Given the description of an element on the screen output the (x, y) to click on. 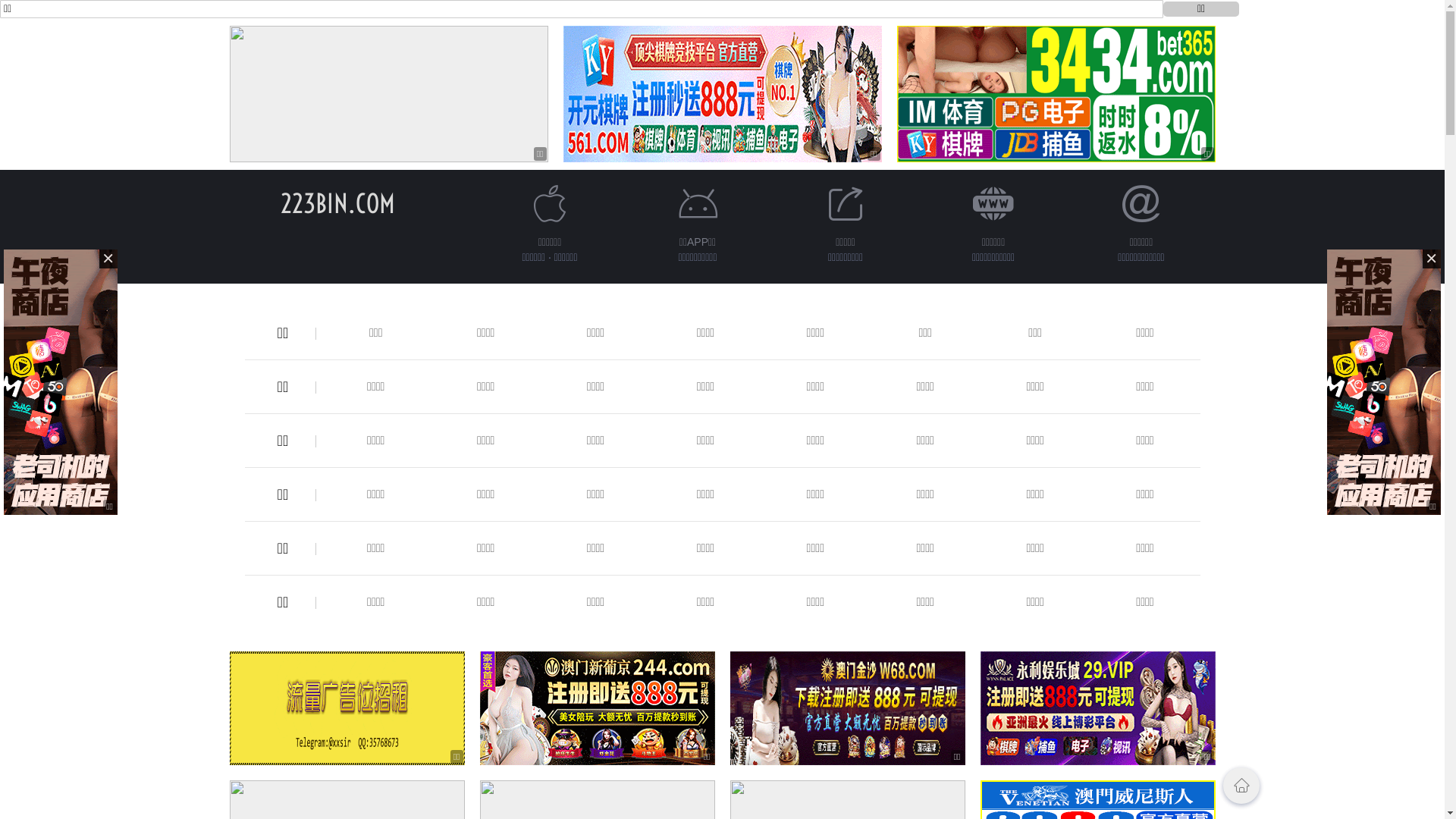
223BIN.COM Element type: text (337, 203)
